Given the description of an element on the screen output the (x, y) to click on. 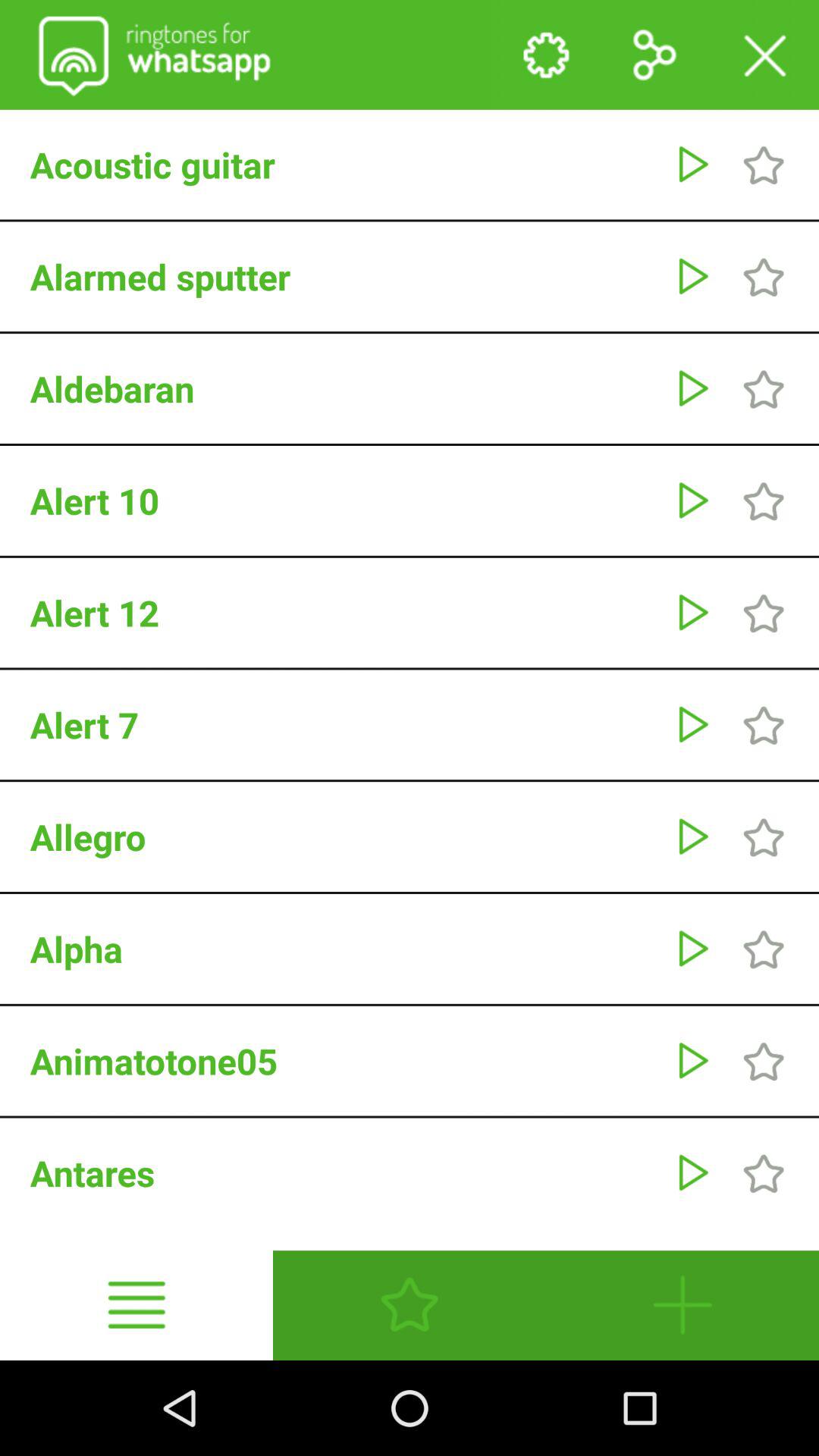
choose the alert 12 app (344, 612)
